Given the description of an element on the screen output the (x, y) to click on. 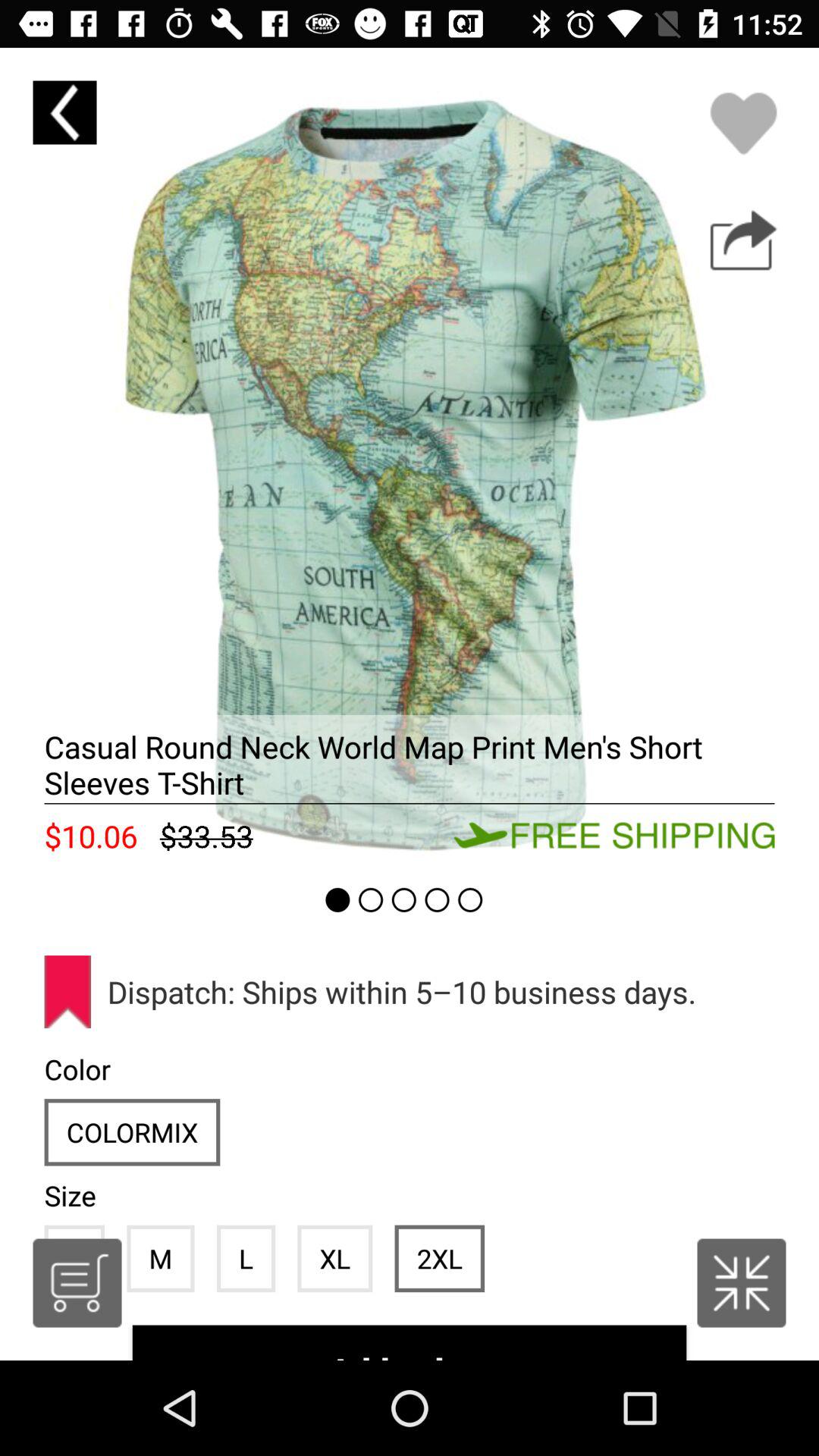
jump until add to bag item (409, 1342)
